Given the description of an element on the screen output the (x, y) to click on. 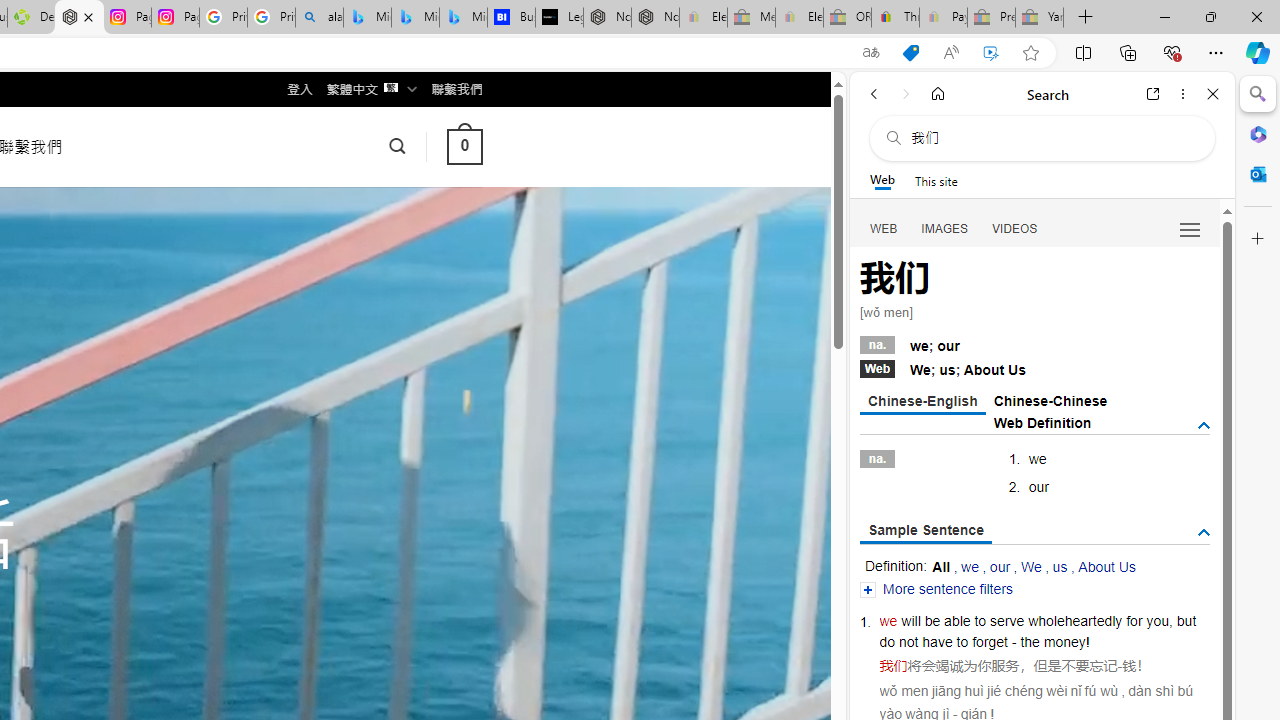
  0   (464, 146)
Chinese-English (922, 402)
Chinese-Chinese (1050, 400)
Microsoft Bing Travel - Shangri-La Hotel Bangkok (463, 17)
 0  (464, 146)
